Given the description of an element on the screen output the (x, y) to click on. 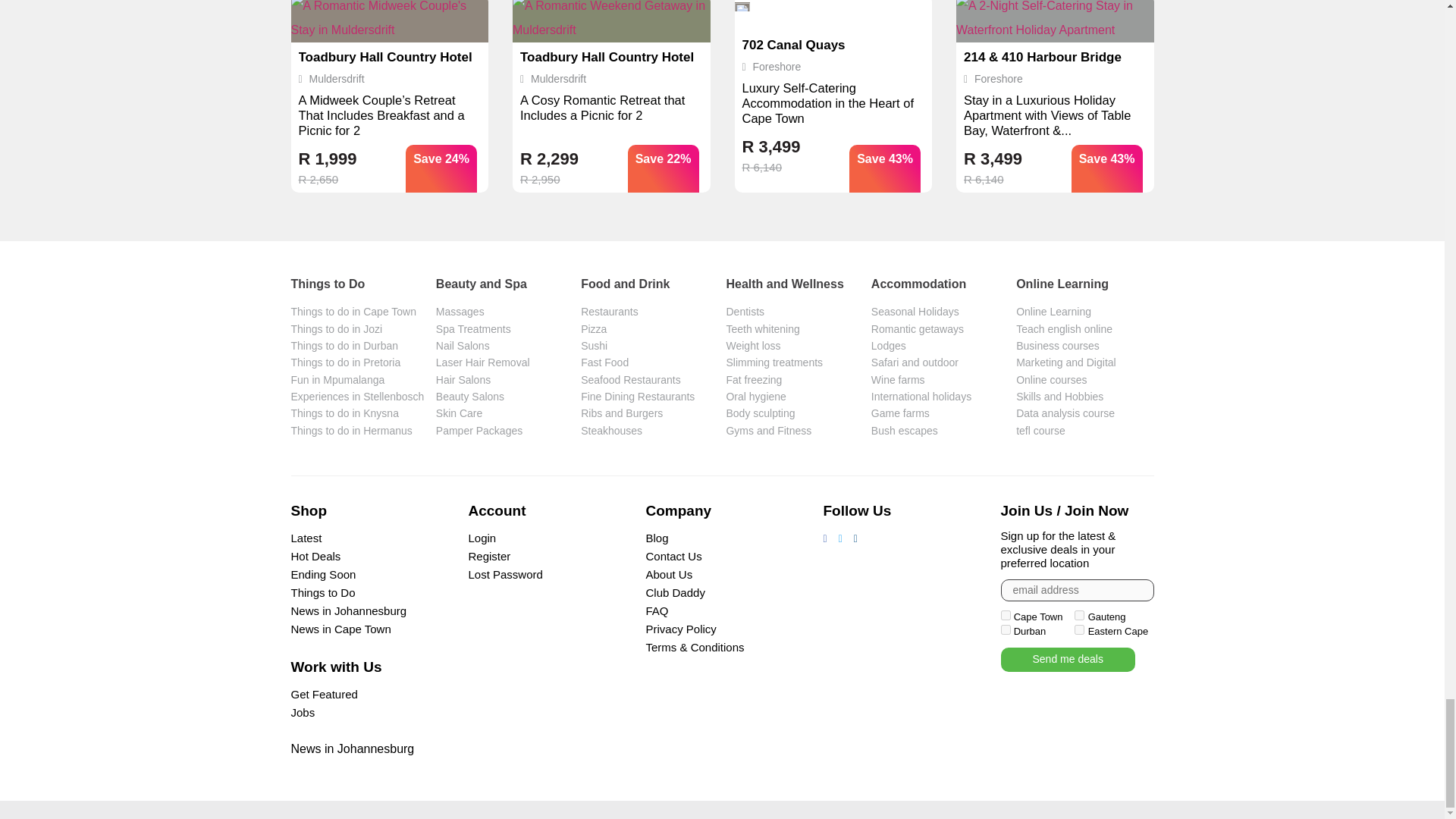
35427 (1005, 629)
News in Johannesburg (349, 610)
News in Jhb (352, 748)
35649 (1079, 629)
35456 (1079, 614)
35425 (1005, 614)
